Given the description of an element on the screen output the (x, y) to click on. 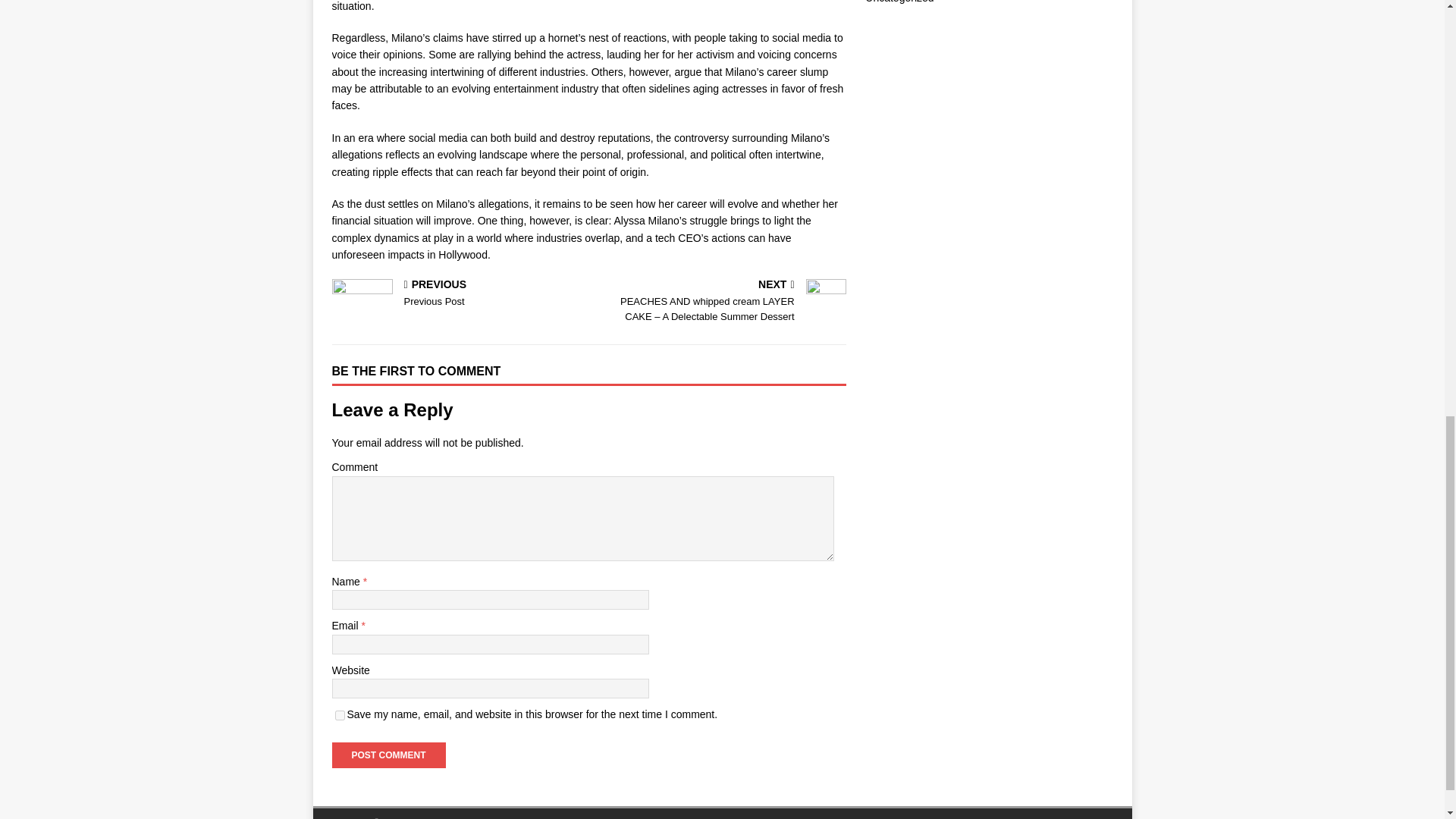
yes (339, 715)
Post Comment (457, 294)
Uncategorized (388, 755)
Post Comment (898, 2)
